Given the description of an element on the screen output the (x, y) to click on. 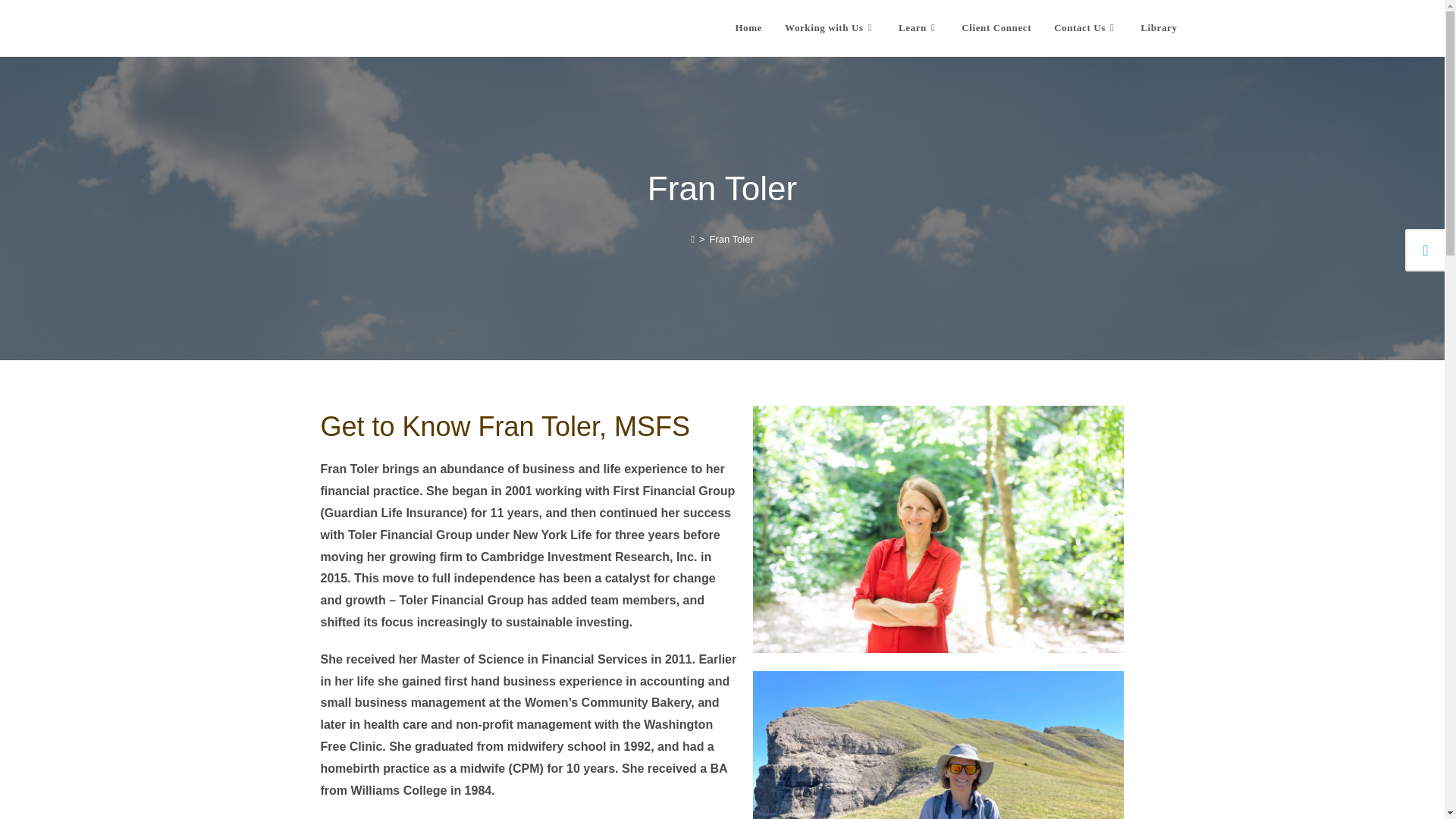
Home (748, 28)
Working with Us (829, 28)
Contact Us (1085, 28)
Library (1158, 28)
Toler Financial Group (359, 27)
Learn (918, 28)
Client Connect (996, 28)
